Given the description of an element on the screen output the (x, y) to click on. 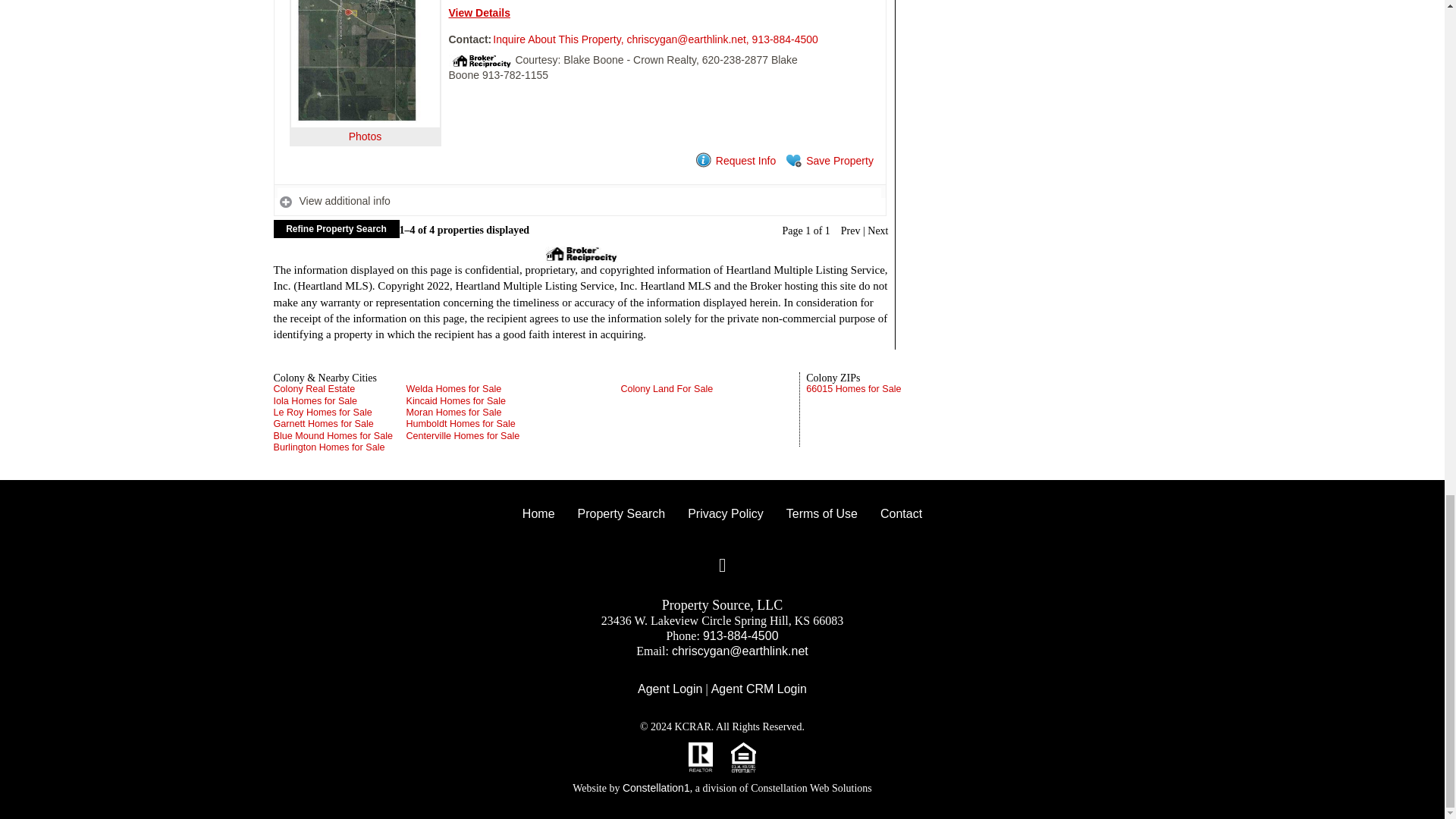
View property remarks and map (580, 201)
